Given the description of an element on the screen output the (x, y) to click on. 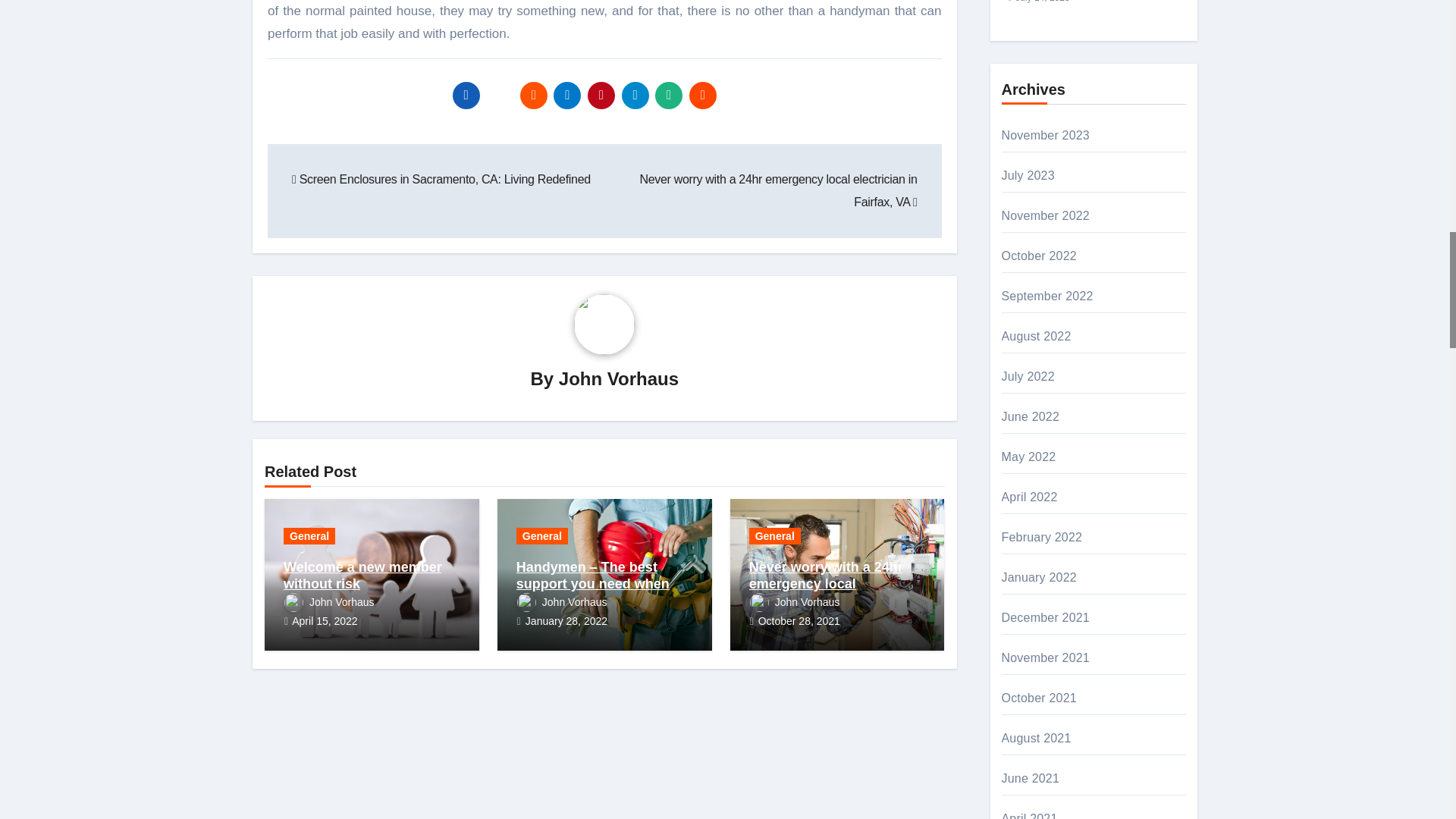
Screen Enclosures in Sacramento, CA: Living Redefined (441, 178)
Permalink to: Welcome a new member without risk (362, 575)
